Given the description of an element on the screen output the (x, y) to click on. 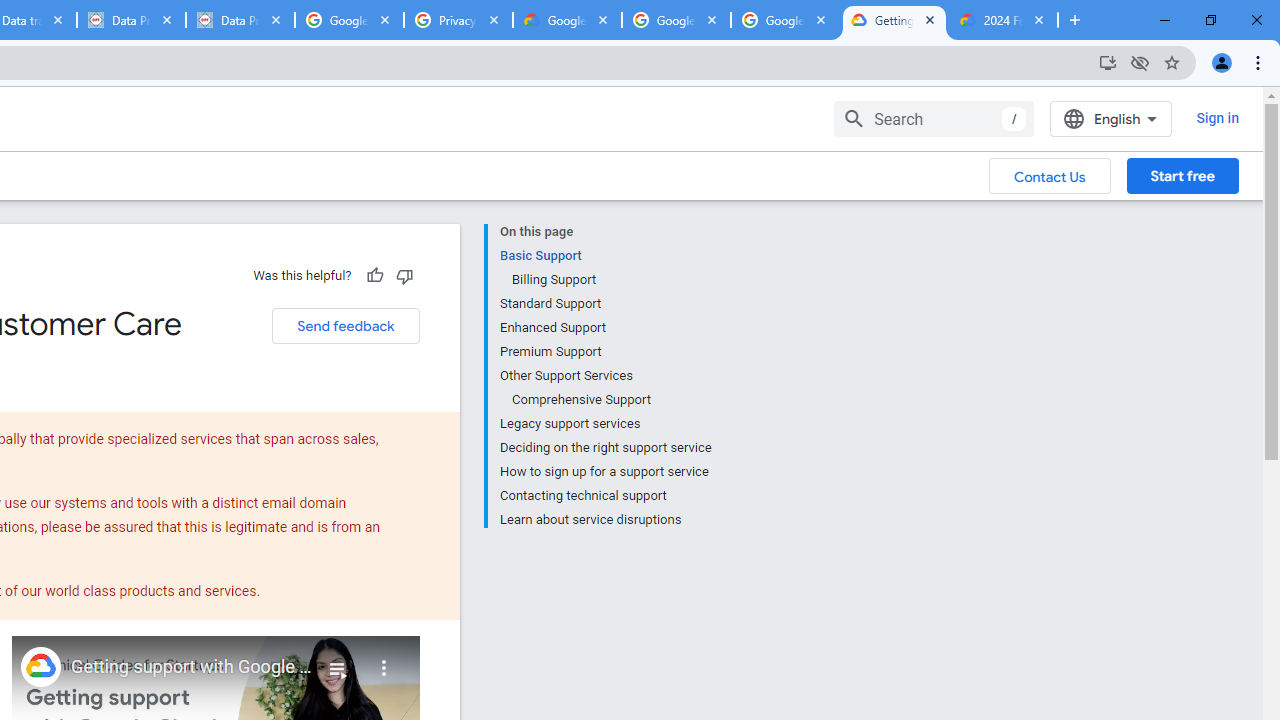
English (1110, 118)
Send feedback (345, 326)
Helpful (374, 275)
Not helpful (404, 275)
Playlist (337, 660)
Contacting technical support (605, 495)
